Given the description of an element on the screen output the (x, y) to click on. 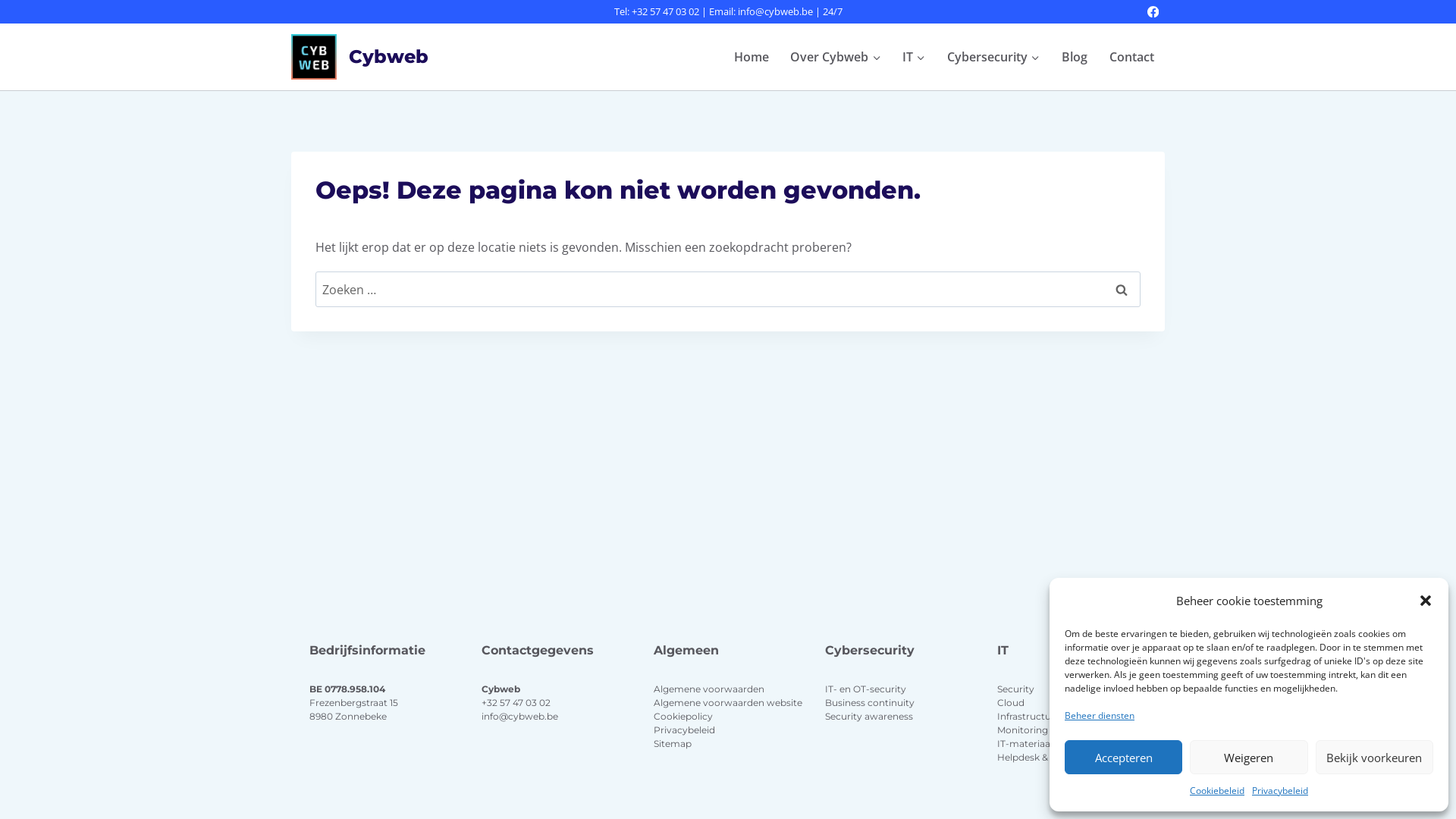
Cloud Element type: text (1010, 702)
Zoeken Element type: text (1121, 289)
Weigeren Element type: text (1248, 757)
Business continuity Element type: text (869, 702)
IT Element type: text (913, 56)
Algemene voorwaarden Element type: text (708, 688)
Cybersecurity Element type: text (993, 56)
Infrastructuur Element type: text (1028, 715)
Cybweb Element type: text (359, 56)
Over Cybweb Element type: text (835, 56)
Monitoring Element type: text (1022, 729)
Privacybeleid Element type: text (1280, 790)
Contact Element type: text (1131, 56)
Beheer diensten Element type: text (1099, 715)
Accepteren Element type: text (1123, 757)
Bekijk voorkeuren Element type: text (1374, 757)
Cookiepolicy Element type: text (682, 715)
Security awareness Element type: text (869, 715)
Blog Element type: text (1074, 56)
Support Element type: text (1080, 756)
Helpdesk & IT- Element type: text (1029, 756)
Security Element type: text (1015, 688)
Home Element type: text (750, 56)
IT-materiaal Element type: text (1024, 743)
Cookiebeleid Element type: text (1216, 790)
IT- en OT-security Element type: text (865, 688)
Algemene voorwaarden website Element type: text (727, 702)
Sitemap Element type: text (672, 743)
Privacybeleid Element type: text (684, 729)
